Given the description of an element on the screen output the (x, y) to click on. 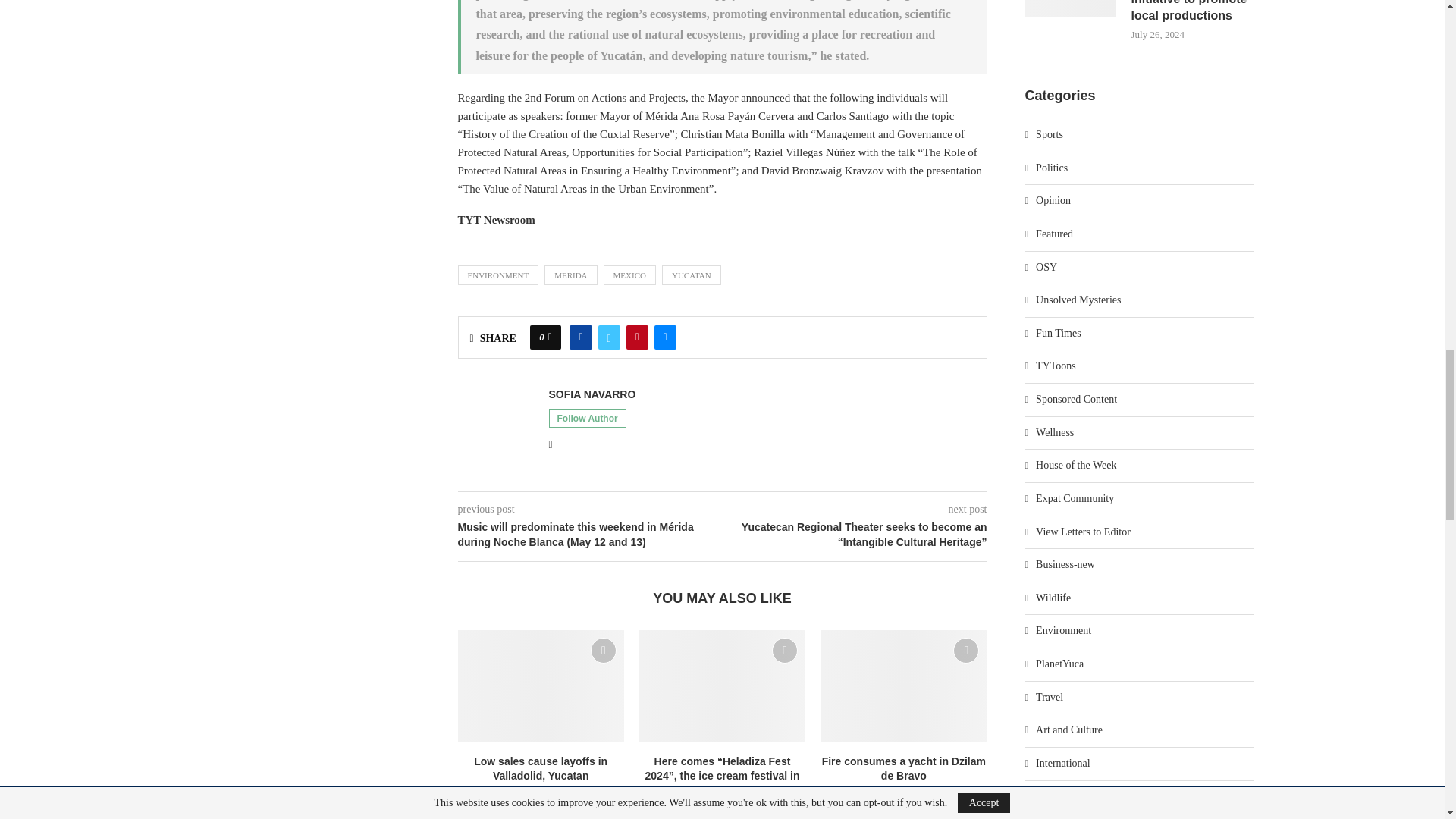
Fire consumes a yacht in Dzilam de Bravo (904, 685)
Low sales cause layoffs in Valladolid, Yucatan (541, 685)
Author Sofia Navarro (592, 394)
